Given the description of an element on the screen output the (x, y) to click on. 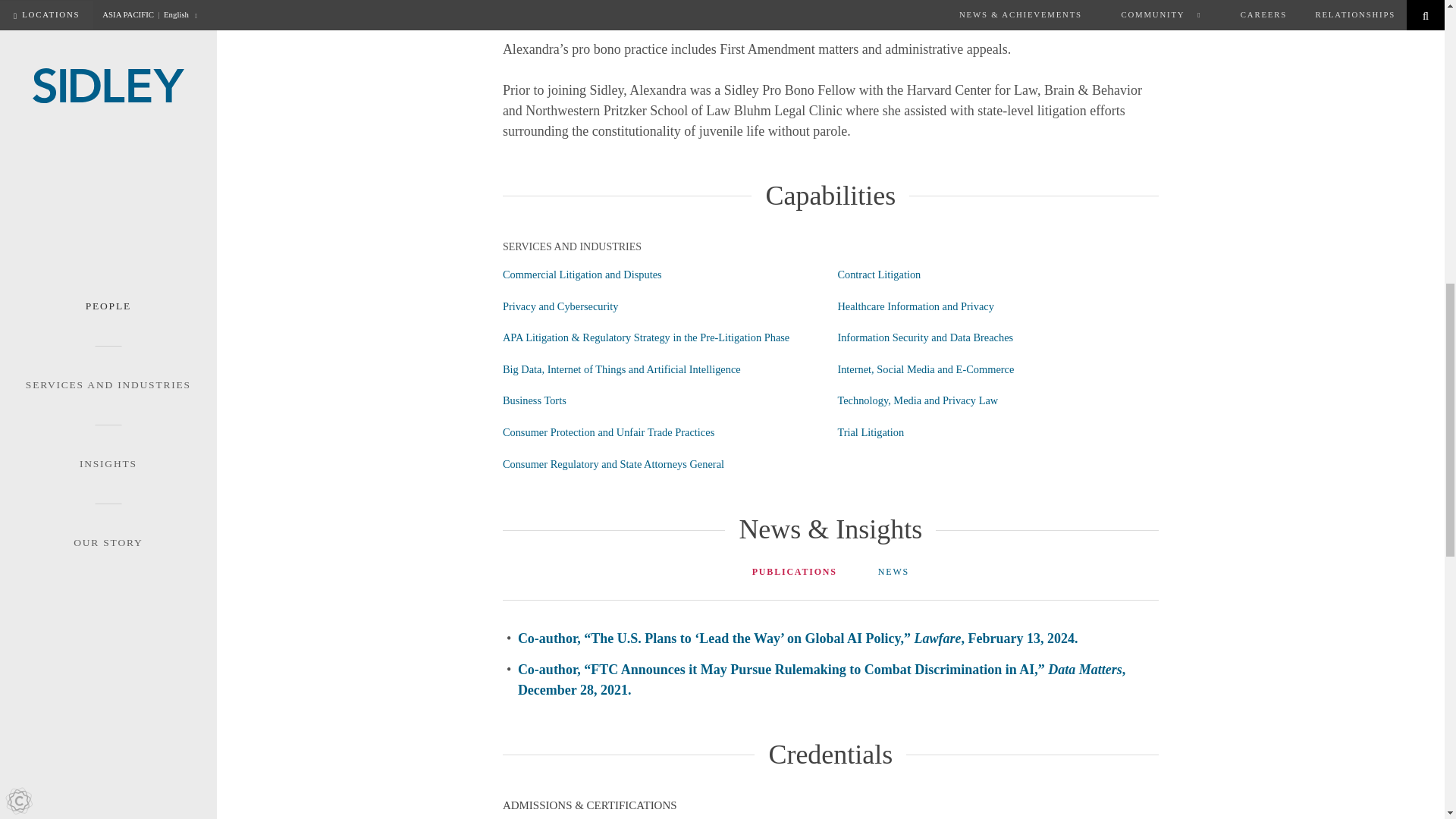
Commercial Litigation and Disputes (582, 274)
Privacy and Cybersecurity (560, 306)
